Given the description of an element on the screen output the (x, y) to click on. 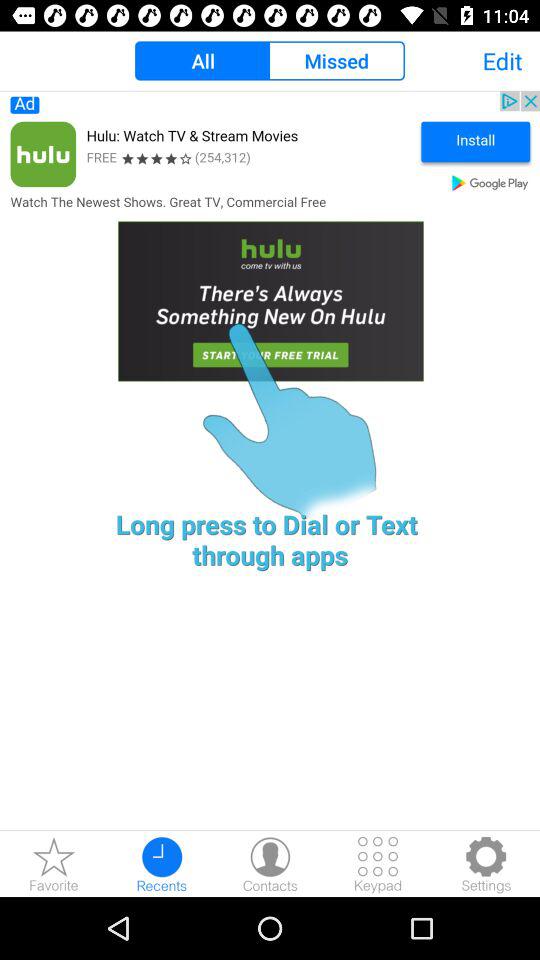
keypad button (377, 864)
